Given the description of an element on the screen output the (x, y) to click on. 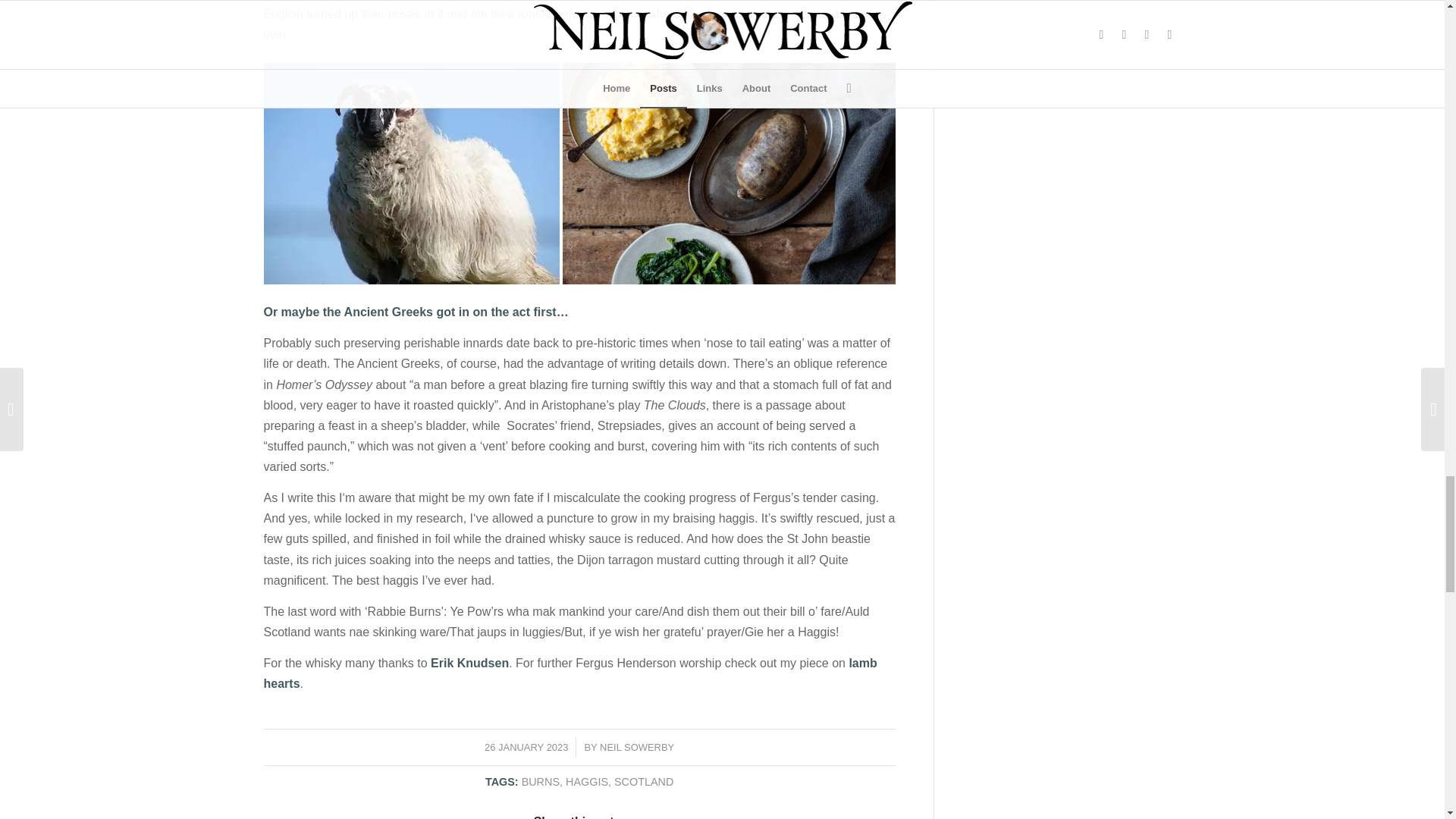
BURNS (540, 781)
NEIL SOWERBY (636, 747)
HAGGIS (587, 781)
lamb hearts (570, 673)
Posts by Neil Sowerby (636, 747)
SCOTLAND (643, 781)
